Given the description of an element on the screen output the (x, y) to click on. 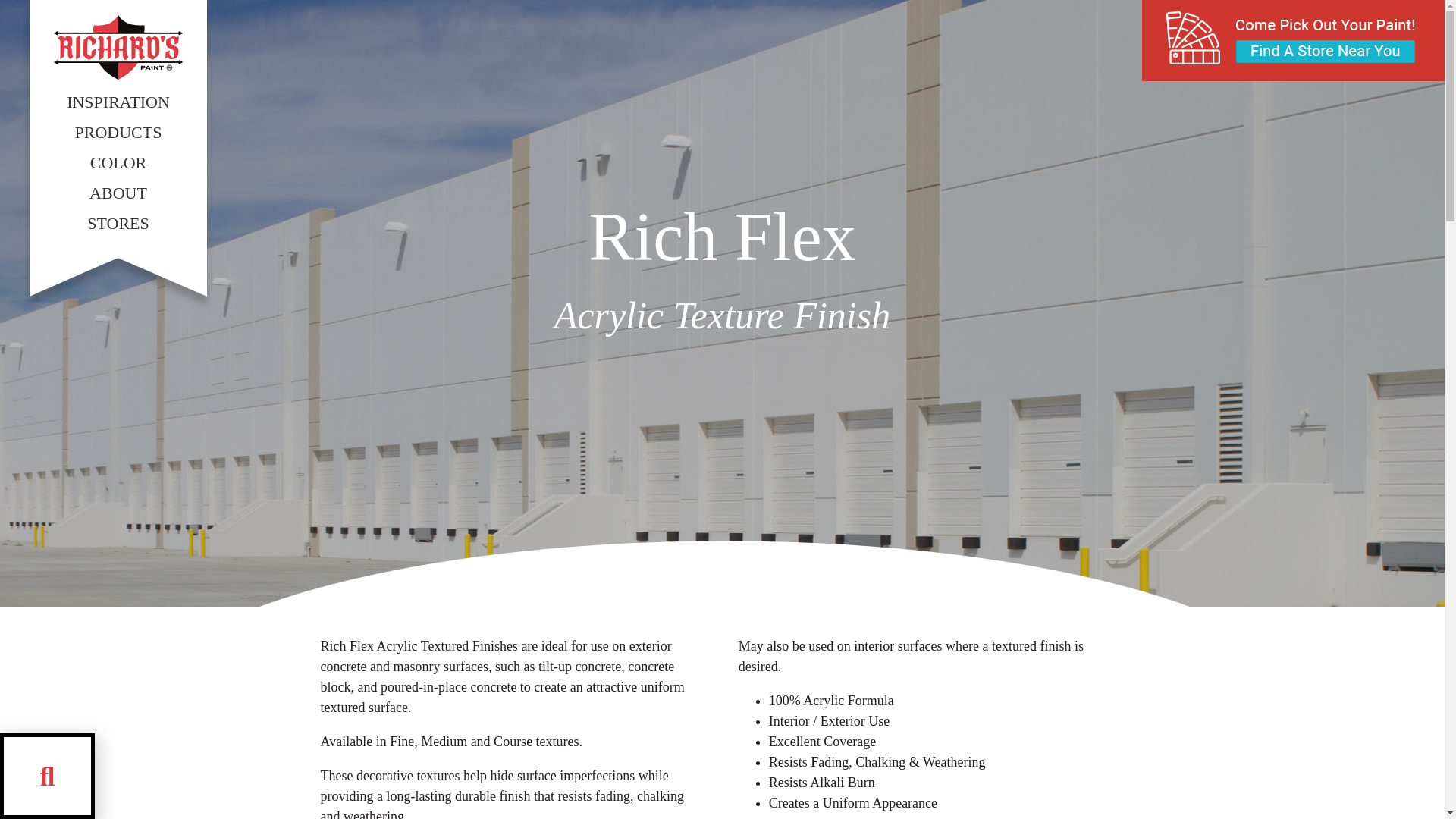
ABOUT (118, 193)
INSPIRATION (118, 101)
STORES (118, 223)
COLOR (118, 163)
PRODUCTS (118, 132)
